Given the description of an element on the screen output the (x, y) to click on. 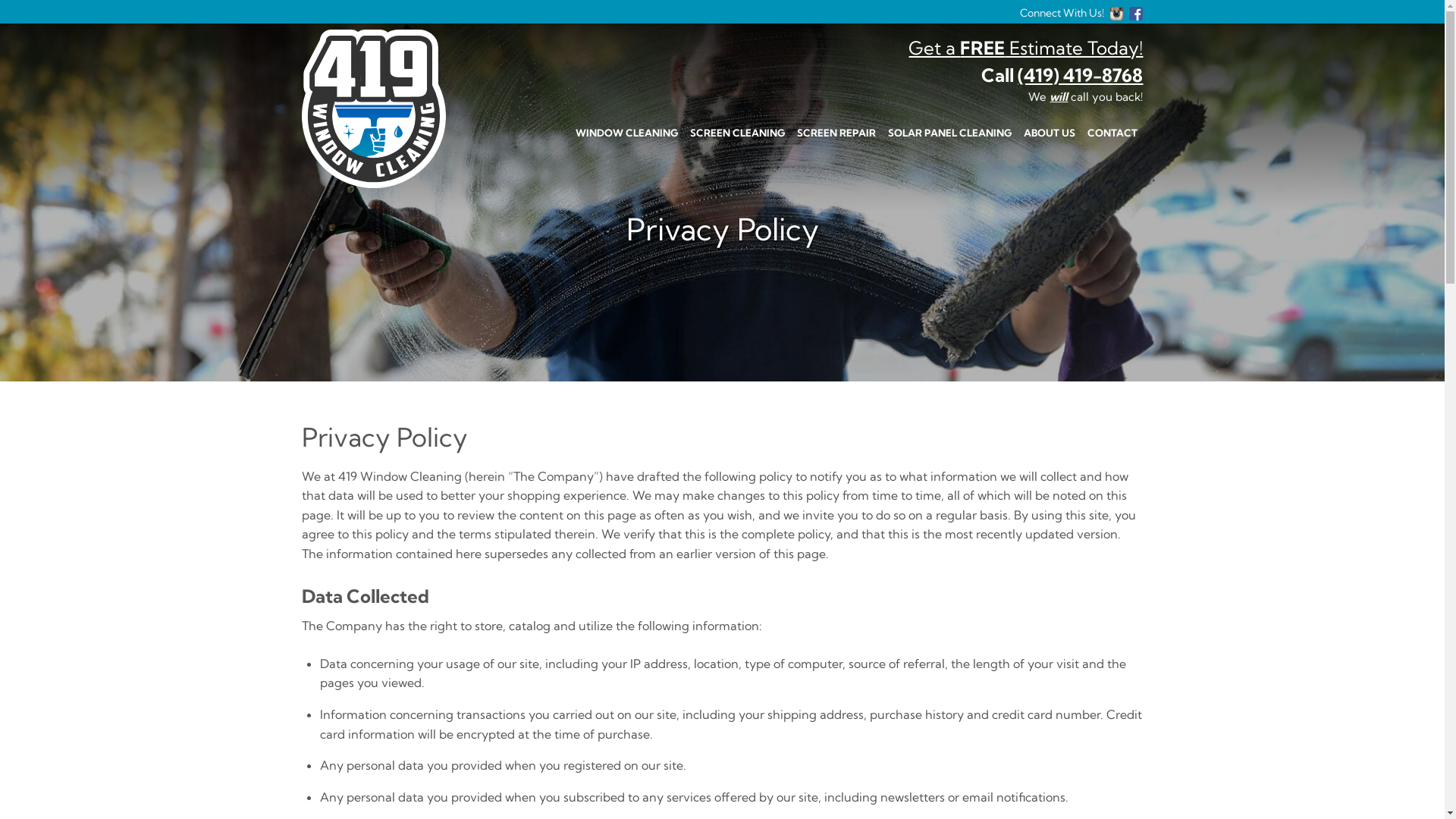
SCREEN REPAIR Element type: text (835, 132)
(419) 419-8768 Element type: text (1079, 74)
SOLAR PANEL CLEANING Element type: text (948, 132)
Get a FREE Estimate Today! Element type: text (1025, 47)
WINDOW CLEANING Element type: text (625, 132)
View our Facebook Element type: text (1135, 12)
View our Instagram Images Element type: text (1116, 12)
CONTACT Element type: text (1112, 132)
ABOUT US Element type: text (1049, 132)
SCREEN CLEANING Element type: text (737, 132)
